Given the description of an element on the screen output the (x, y) to click on. 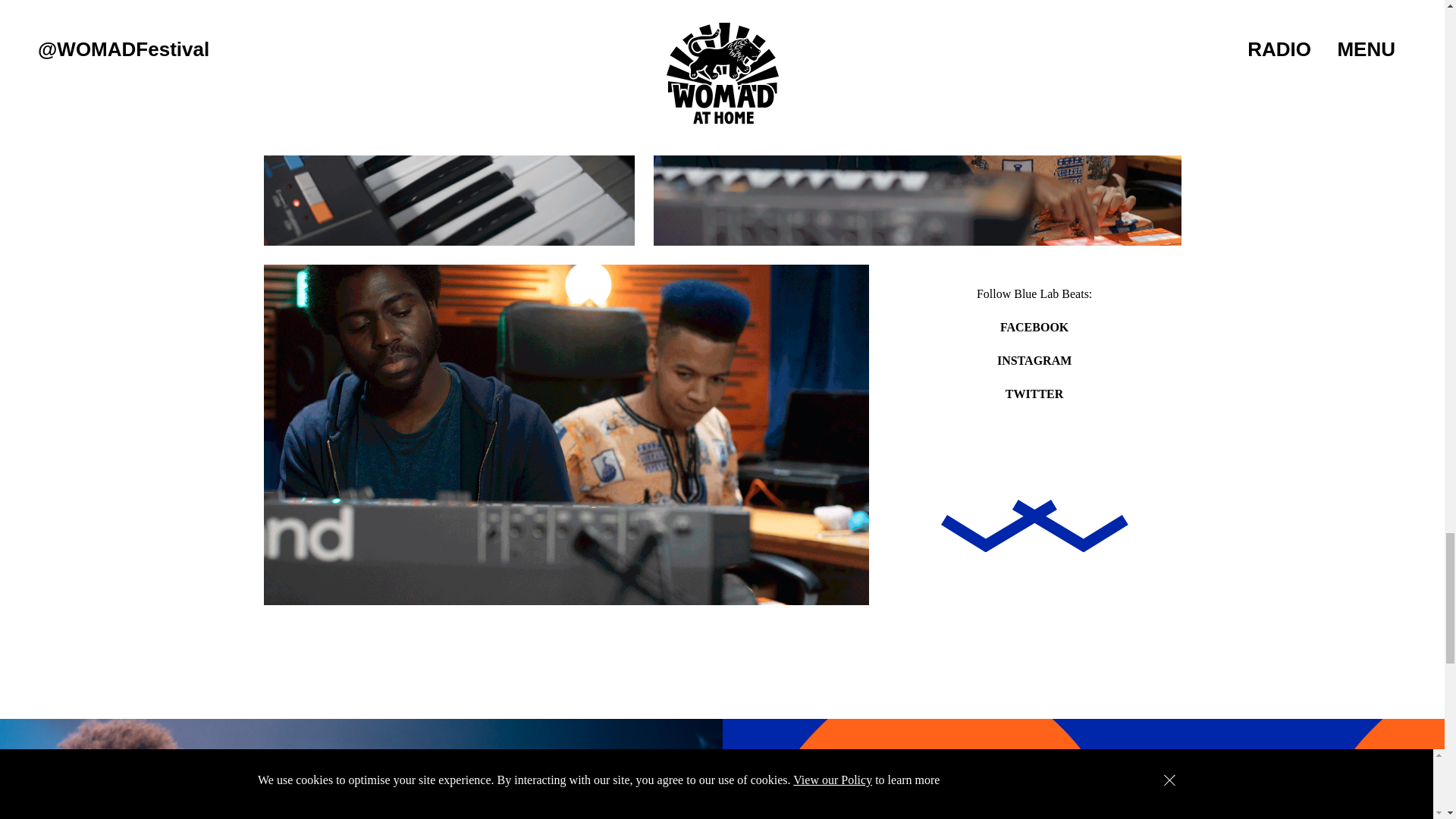
FACEBOOK (1034, 327)
TWITTER (1034, 393)
INSTAGRAM (1034, 359)
